Given the description of an element on the screen output the (x, y) to click on. 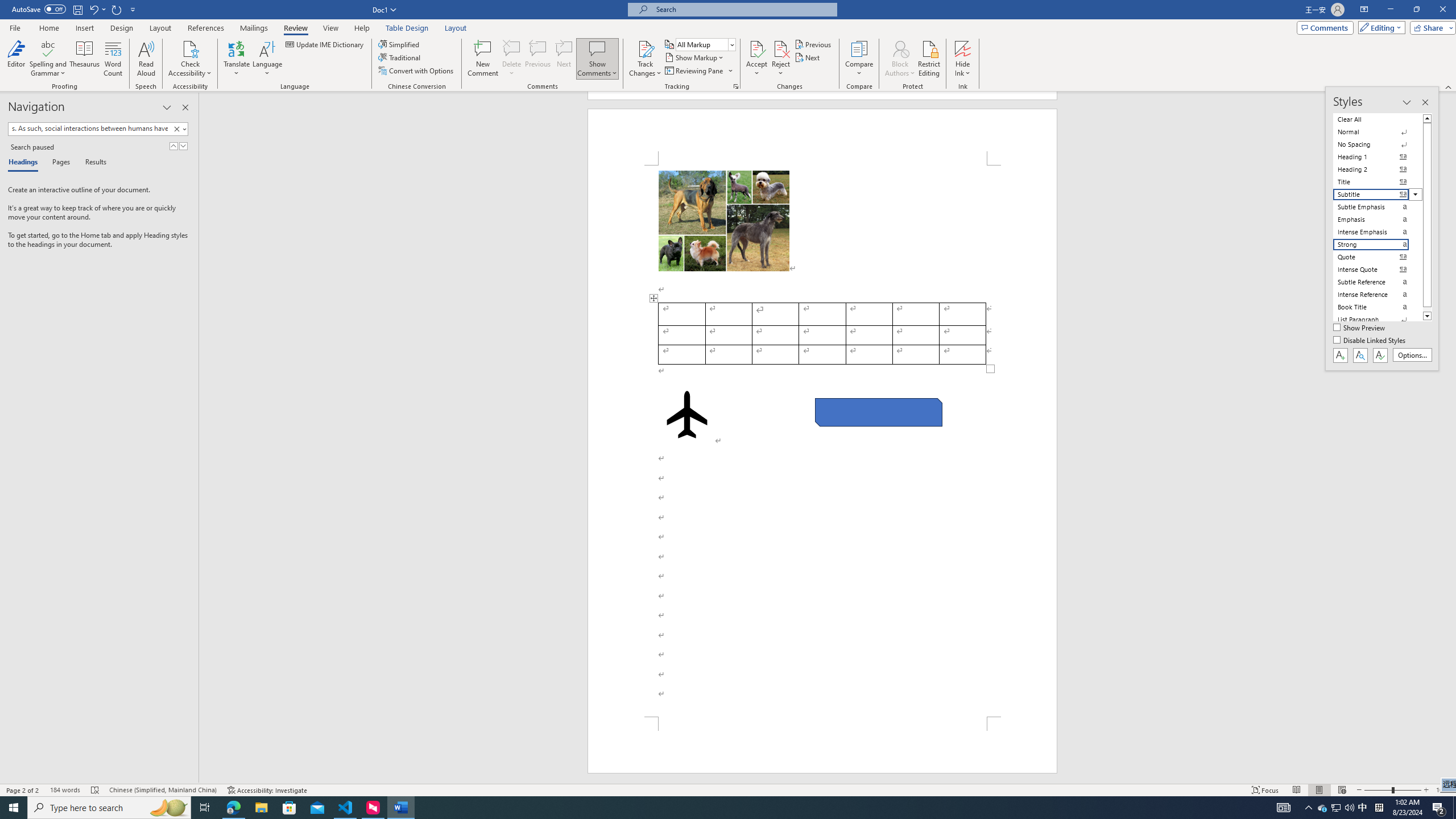
Delete (511, 58)
Undo Style (92, 9)
Accept (756, 58)
Intense Reference (1377, 294)
Subtle Reference (1377, 282)
Disable Linked Styles (1370, 340)
Page Number Page 2 of 2 (22, 790)
Delete (511, 48)
